Given the description of an element on the screen output the (x, y) to click on. 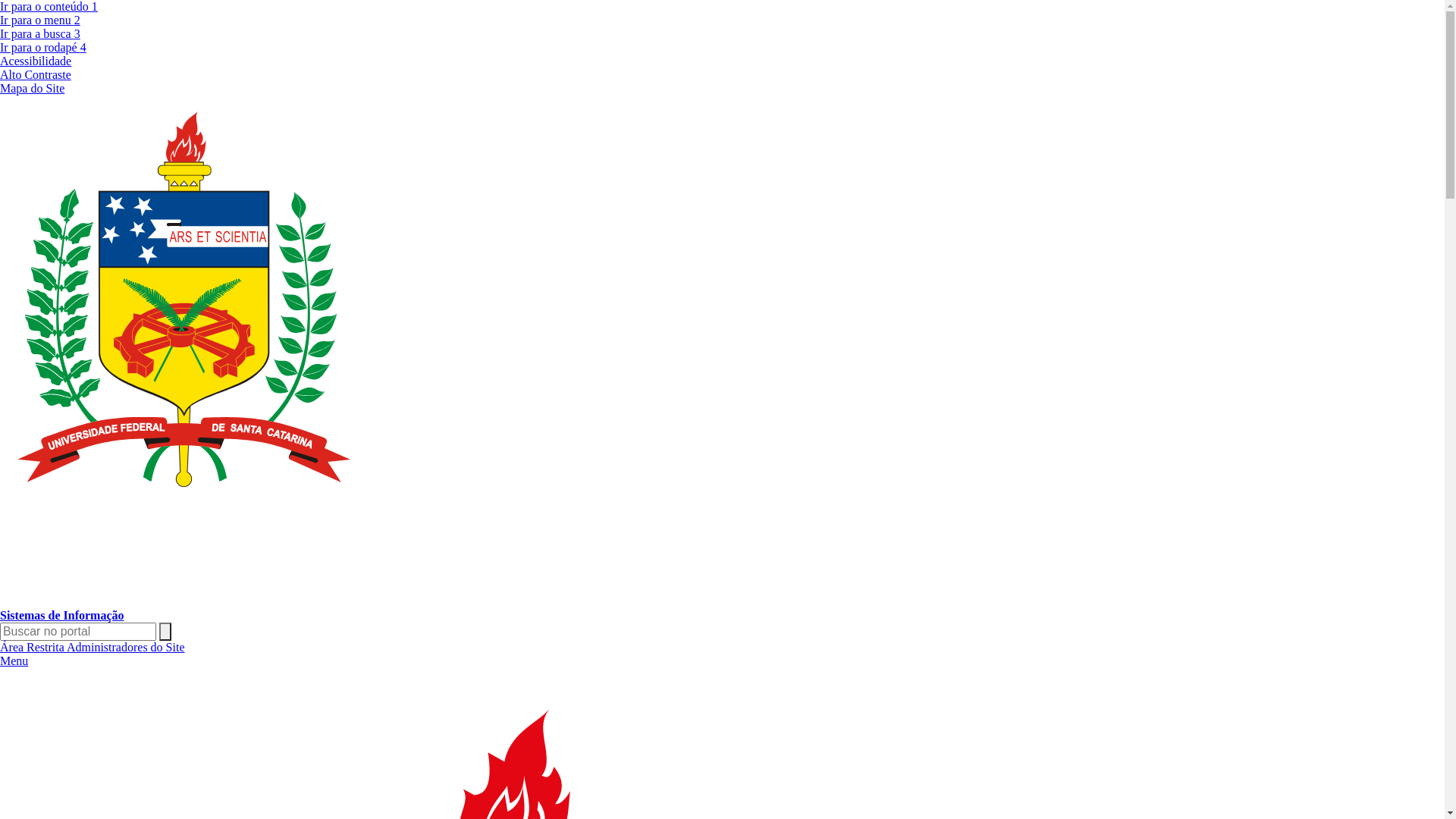
Ir para o menu 2 Element type: text (40, 19)
Acessibilidade Element type: text (35, 60)
Ir para a busca 3 Element type: text (40, 33)
Administradores do Site Element type: text (125, 646)
Menu Element type: text (14, 660)
Alto Contraste Element type: text (35, 74)
Mapa do Site Element type: text (32, 87)
